Given the description of an element on the screen output the (x, y) to click on. 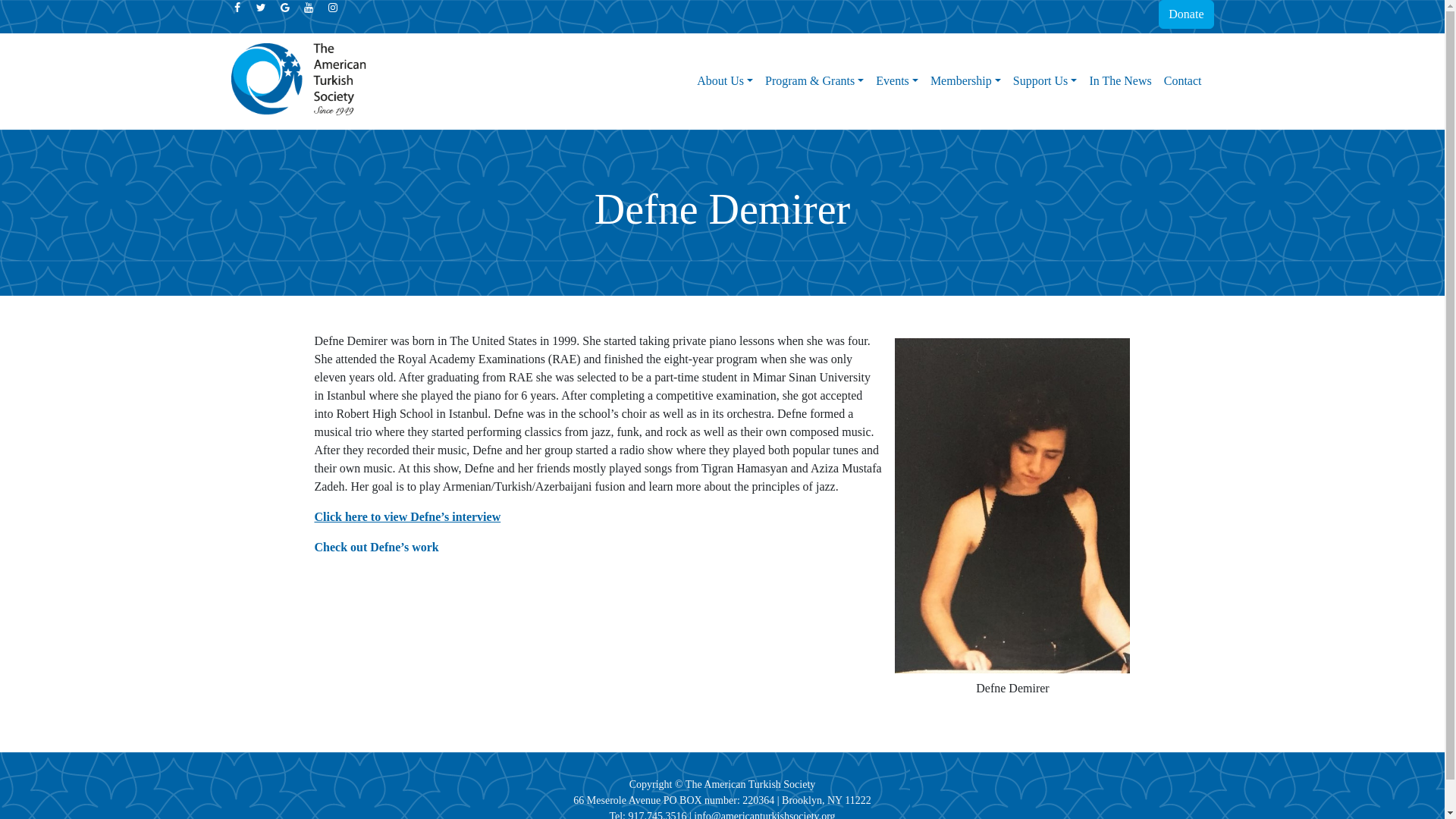
About Us (724, 81)
Contact (1182, 81)
twitter (261, 7)
Events (896, 81)
youtube (309, 7)
facebook (238, 7)
Membership (965, 81)
instagram (331, 7)
google (286, 7)
In The News (1120, 81)
